Given the description of an element on the screen output the (x, y) to click on. 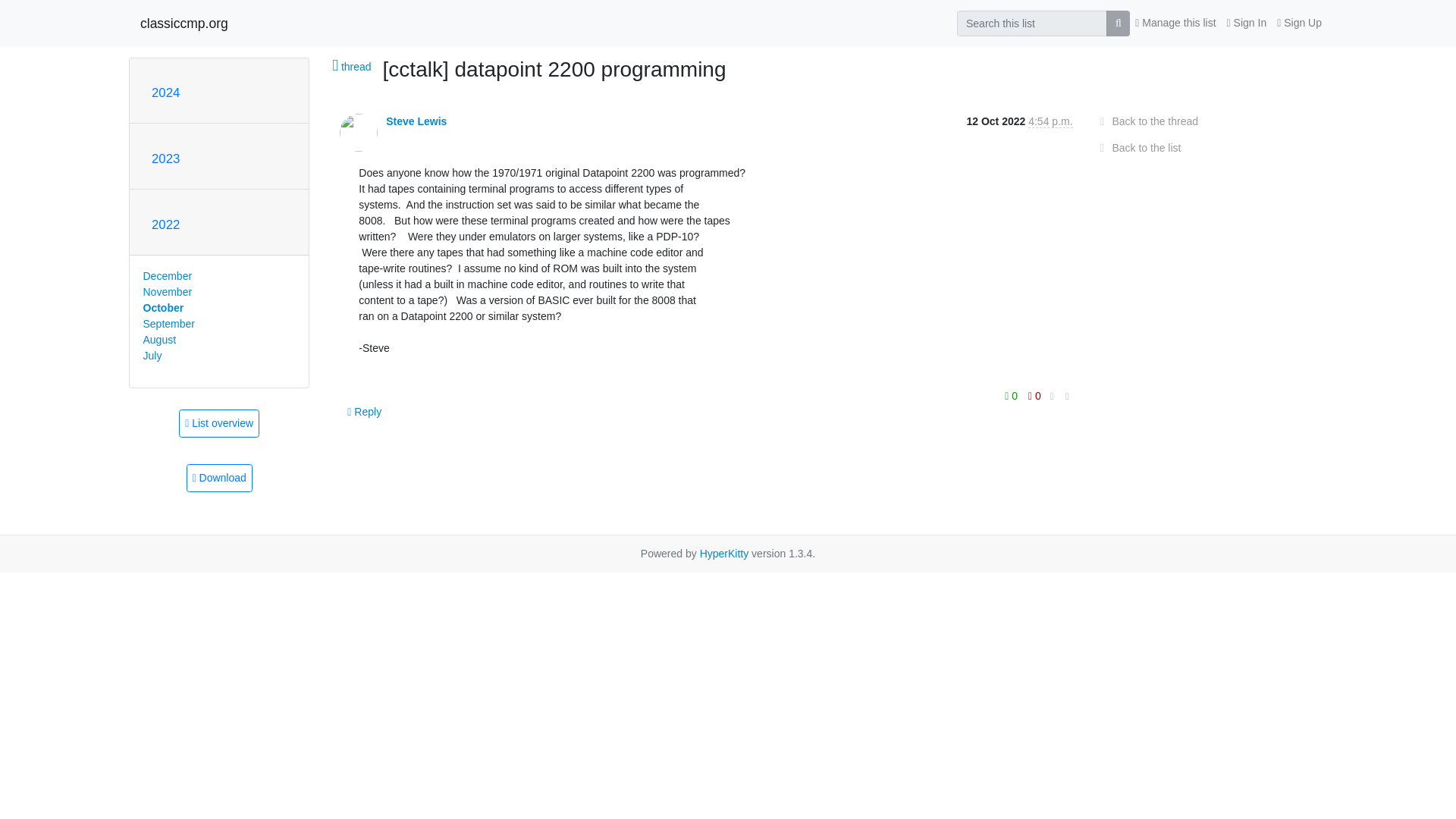
Sign In (1246, 22)
Download (218, 478)
December (167, 275)
classiccmp.org (183, 22)
Manage this list (1175, 22)
July (151, 355)
November (167, 291)
September (167, 323)
2024 (165, 92)
This message in gzipped mbox format (218, 478)
Sender's time: Oct. 12, 2022, 3:54 p.m. (1049, 121)
You must be logged-in to vote. (1013, 394)
List overview (219, 423)
2022 (165, 224)
October (162, 307)
